Given the description of an element on the screen output the (x, y) to click on. 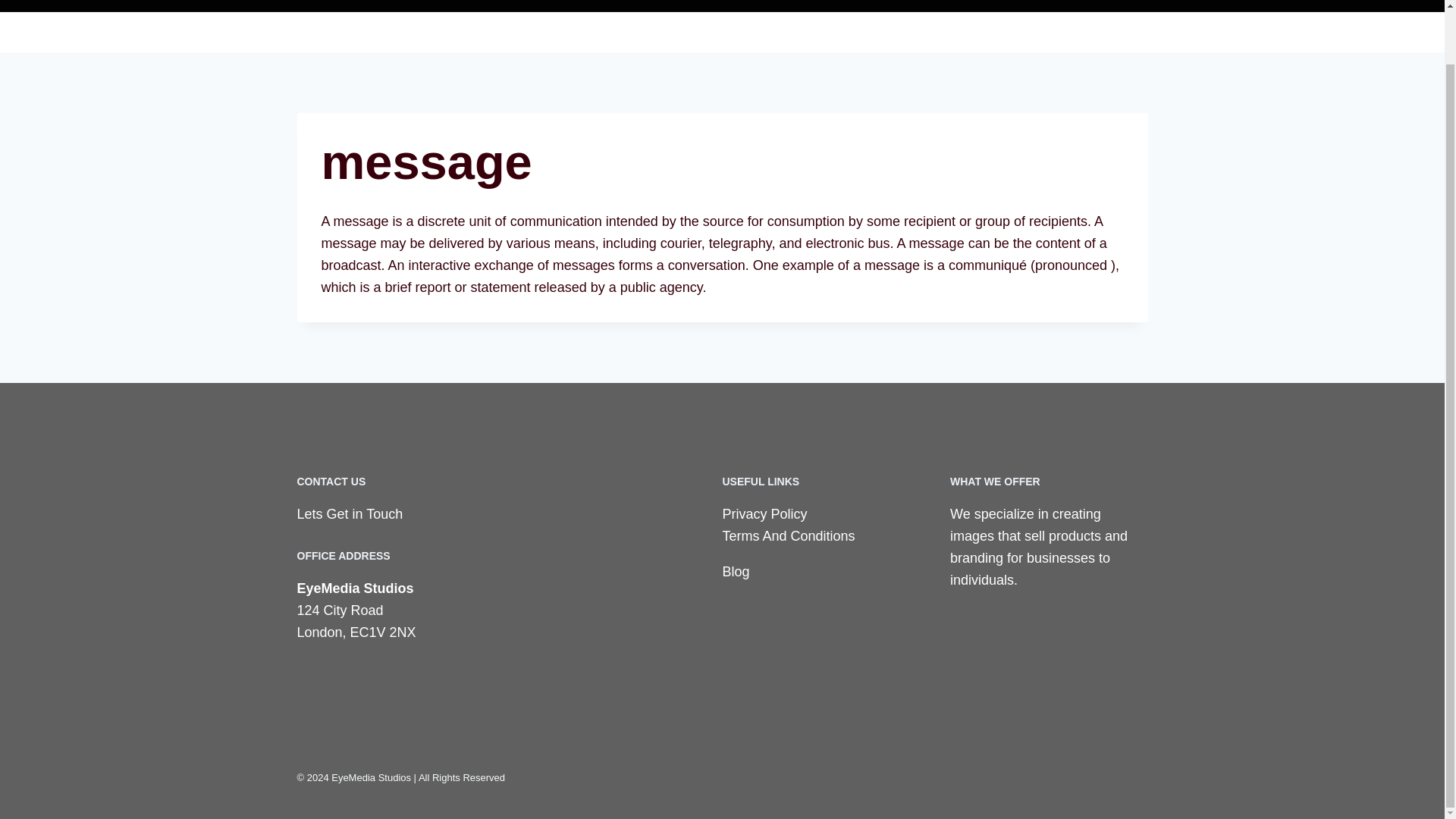
Commercial Photography (1055, 35)
Galleries (736, 35)
Resources (1320, 35)
Pricing (1177, 35)
Headshots (825, 35)
About (1239, 35)
Corporate (918, 35)
